Given the description of an element on the screen output the (x, y) to click on. 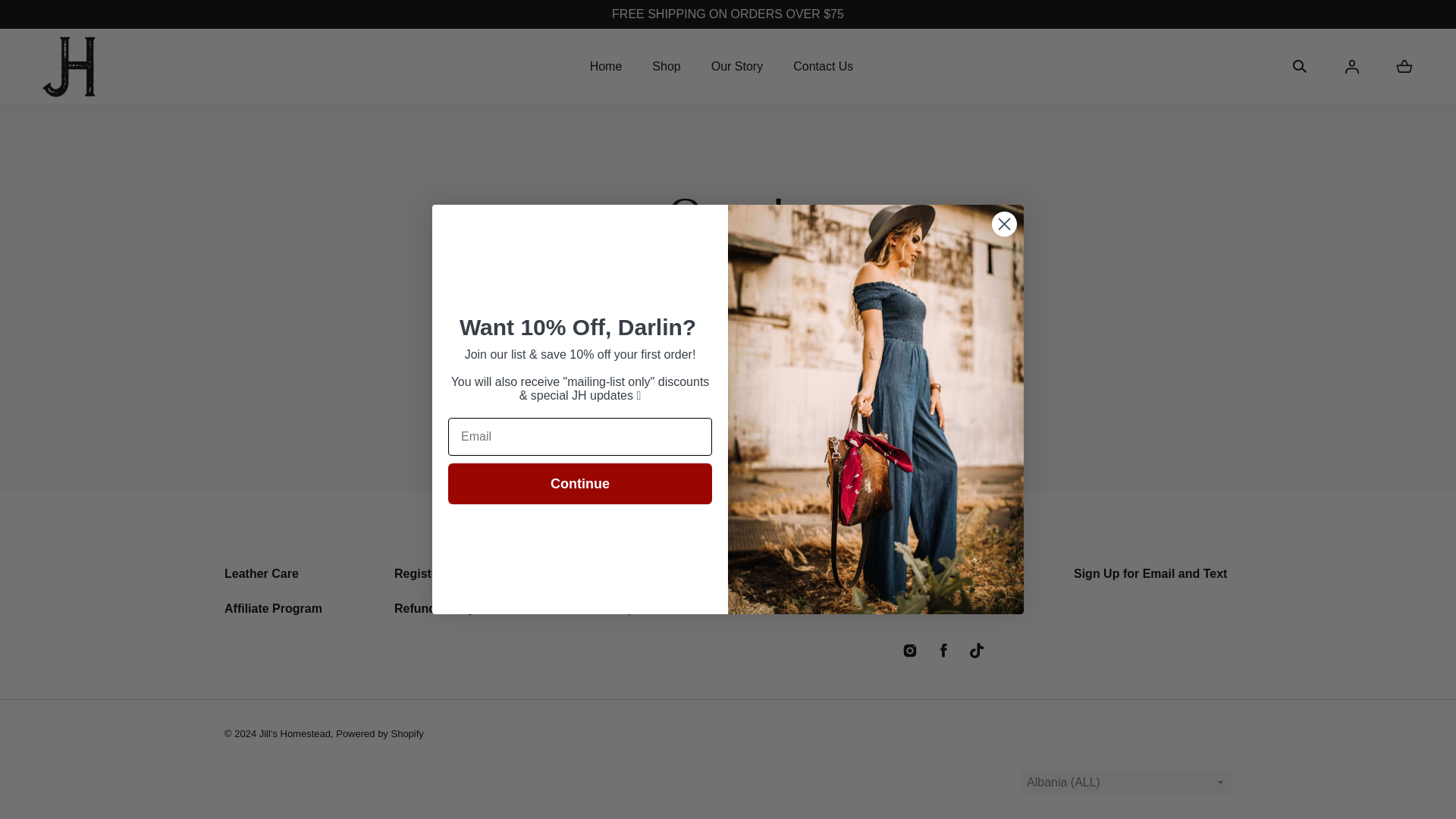
Smile.io Rewards Program Launcher (1385, 780)
Close dialog 1 (1004, 223)
SKIP TO CONTENT (80, 18)
